Given the description of an element on the screen output the (x, y) to click on. 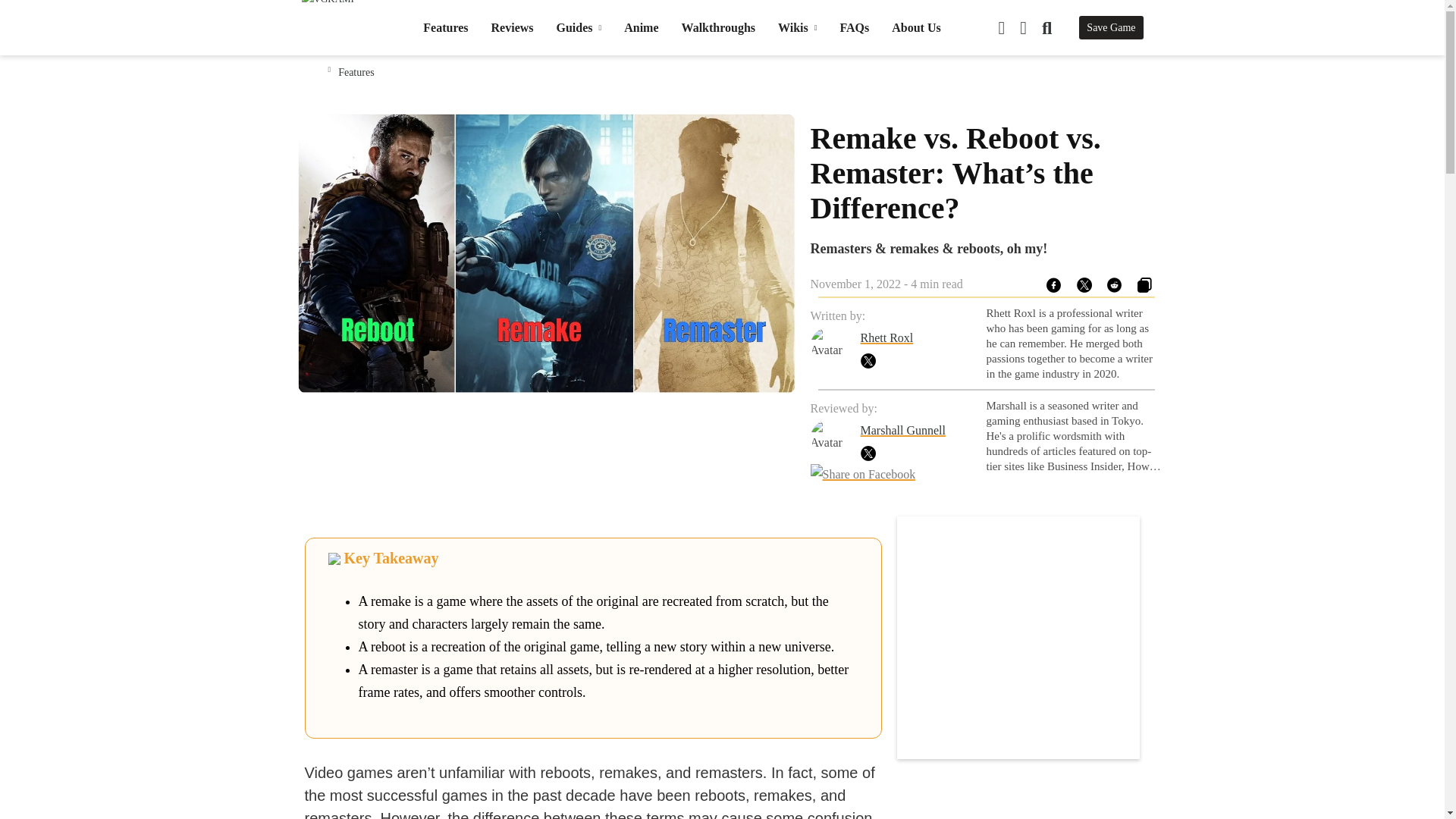
Reviews (513, 27)
About Us (915, 27)
Features (445, 27)
VGKAMI (339, 32)
Guides (579, 27)
Wikis (796, 27)
Save Game (1110, 27)
Anime (641, 27)
FAQs (854, 27)
Walkthroughs (718, 27)
